Given the description of an element on the screen output the (x, y) to click on. 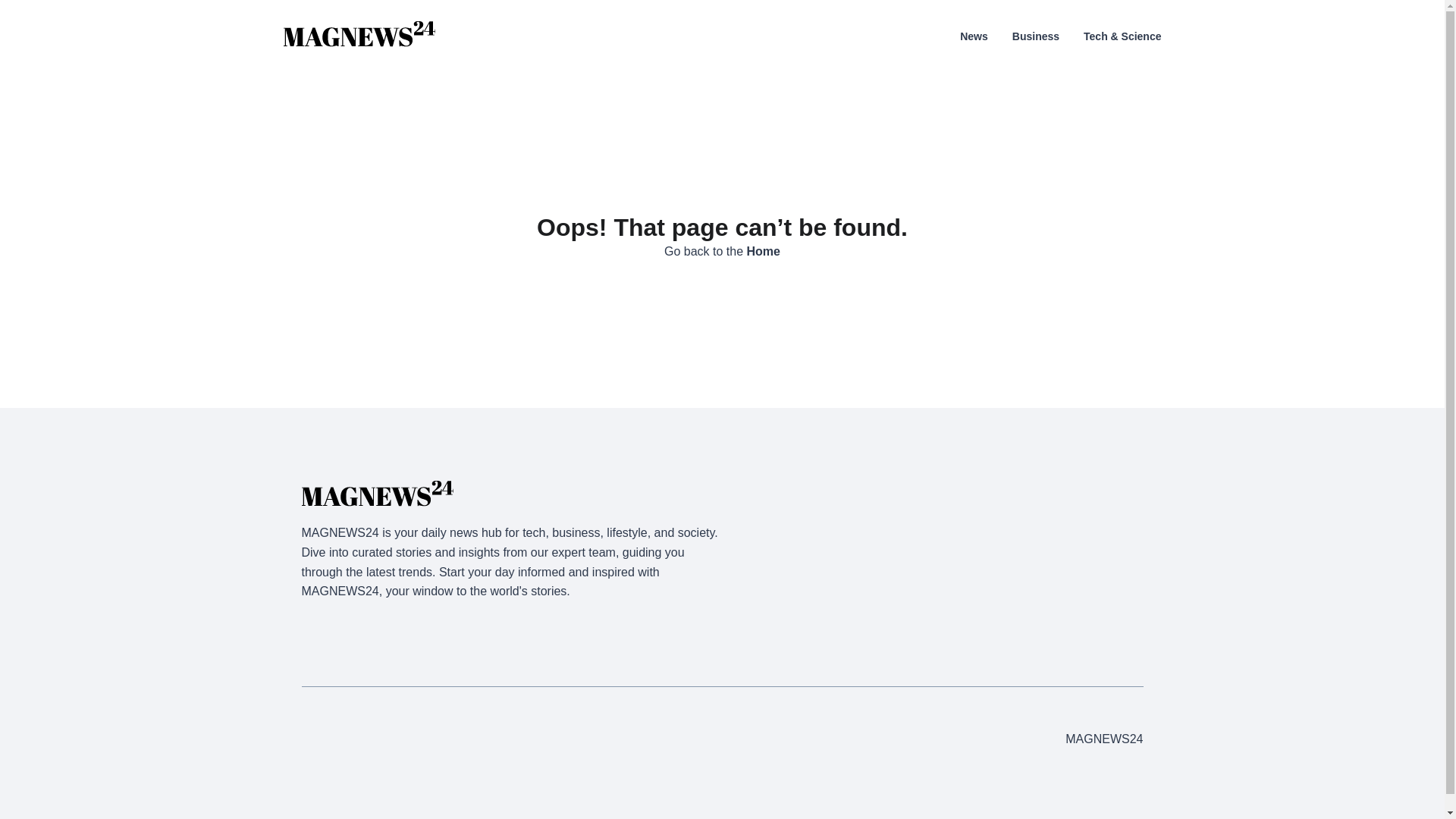
Business (1035, 36)
News (973, 36)
Home (763, 250)
